Given the description of an element on the screen output the (x, y) to click on. 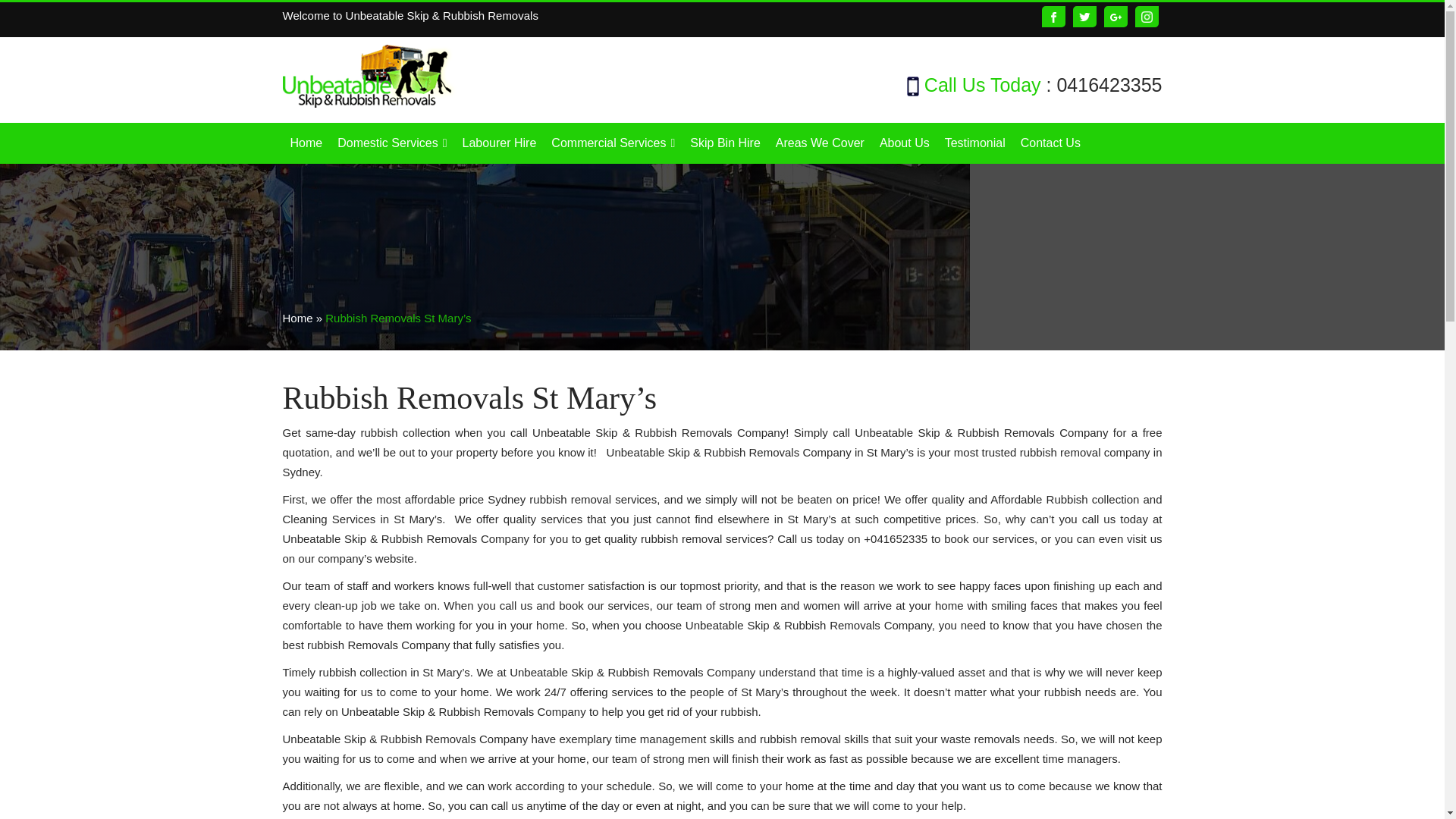
Labourer Hire (499, 142)
Commercial Services (612, 142)
0416423355 (1109, 84)
Home (306, 142)
Domestic Services (392, 142)
